Given the description of an element on the screen output the (x, y) to click on. 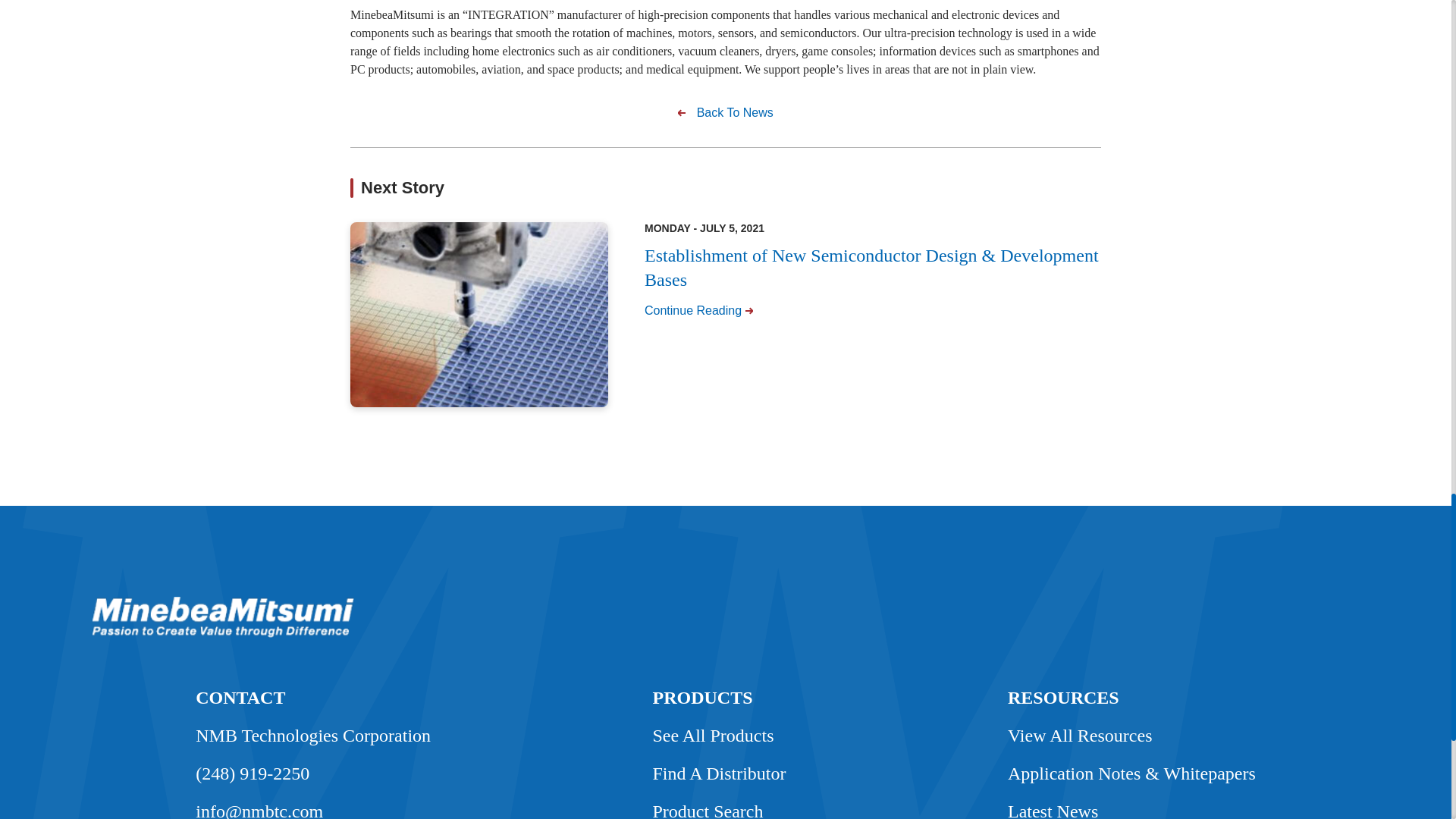
Product Search (707, 805)
Find A Distributor (719, 773)
Latest News (1052, 805)
